Given the description of an element on the screen output the (x, y) to click on. 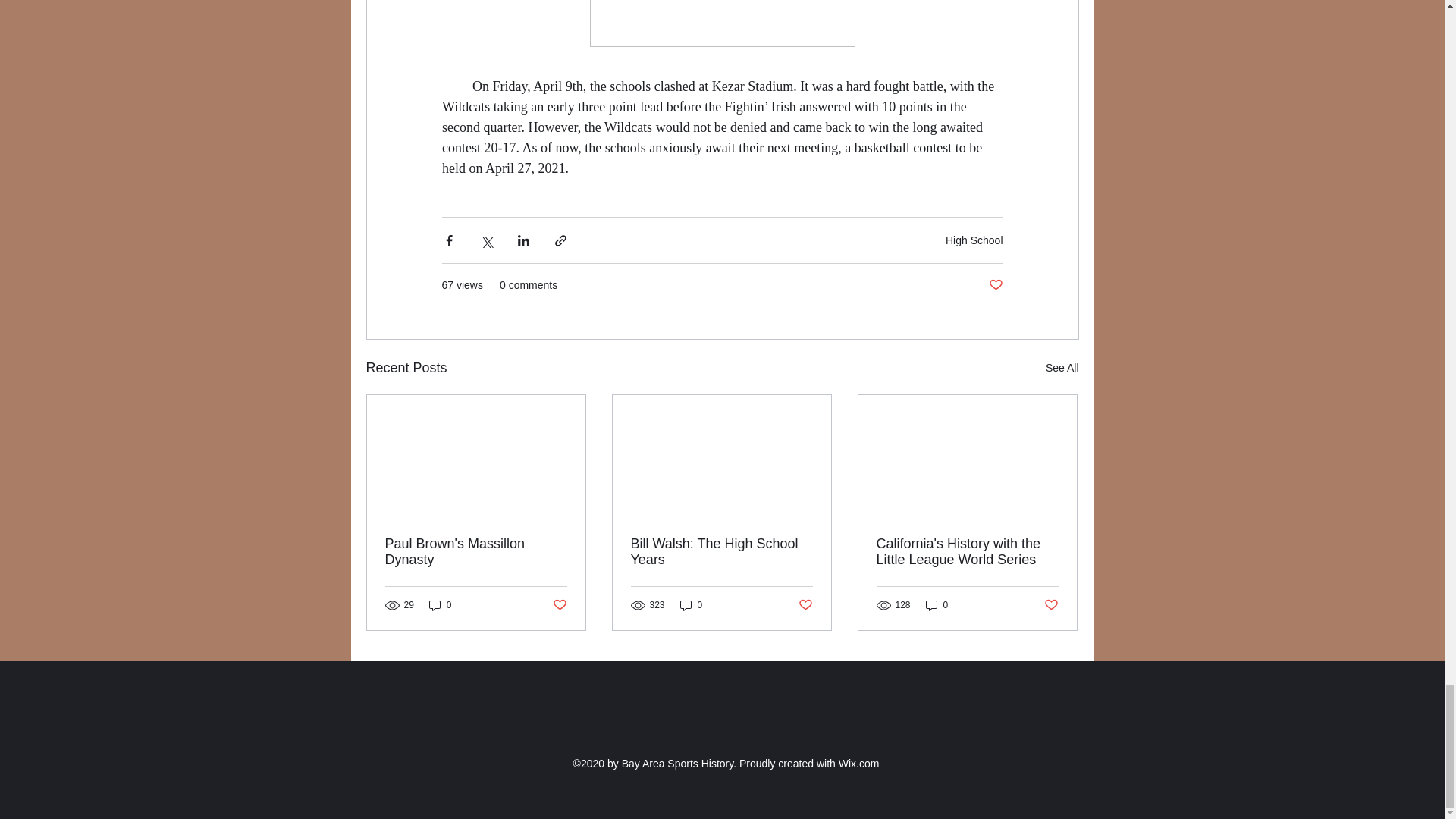
Post not marked as liked (804, 605)
0 (937, 605)
0 (440, 605)
Post not marked as liked (1050, 605)
Post not marked as liked (558, 605)
California's History with the Little League World Series (967, 552)
Post not marked as liked (995, 285)
High School (973, 240)
0 (691, 605)
Paul Brown's Massillon Dynasty (476, 552)
